Given the description of an element on the screen output the (x, y) to click on. 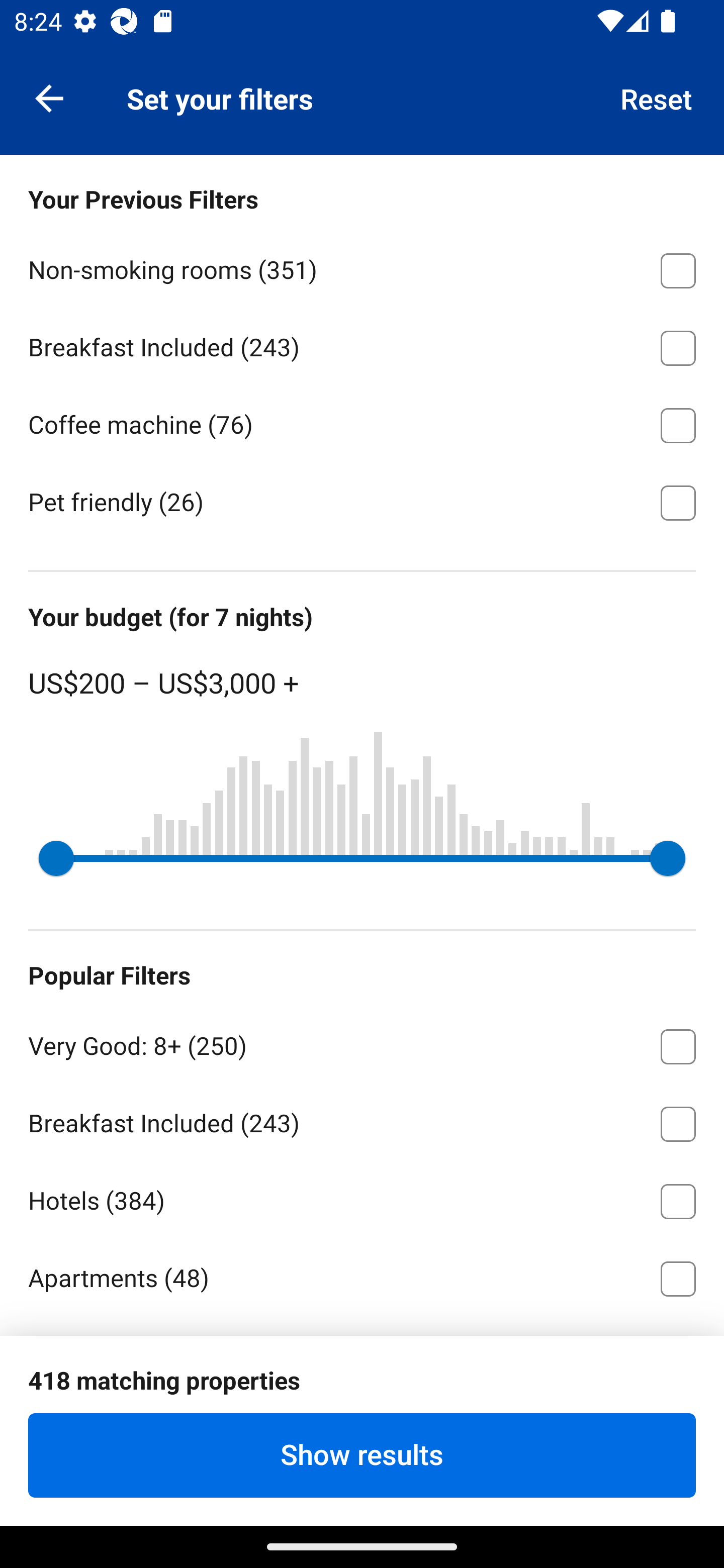
Navigate up (49, 97)
Reset (656, 97)
Non-smoking rooms ⁦(351) (361, 266)
Breakfast Included ⁦(243) (361, 344)
Coffee machine ⁦(76) (361, 422)
Pet friendly ⁦(26) (361, 501)
Very Good: 8+ ⁦(250) (361, 1043)
Breakfast Included ⁦(243) (361, 1119)
Hotels ⁦(384) (361, 1197)
Apartments ⁦(48) (361, 1275)
Show results (361, 1454)
